Given the description of an element on the screen output the (x, y) to click on. 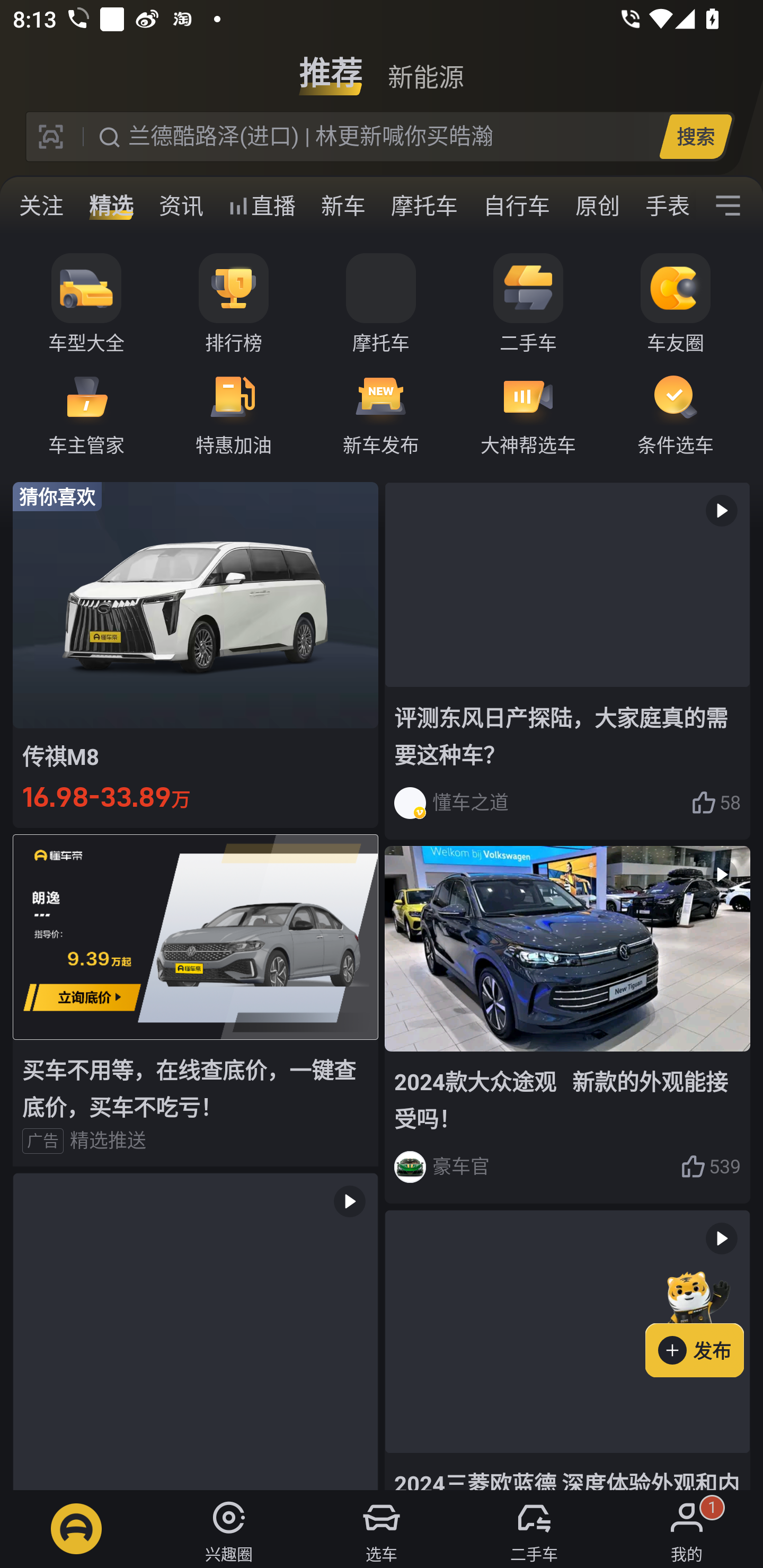
推荐 (330, 65)
新能源 (425, 65)
搜索 (695, 136)
关注 (41, 205)
精选 (111, 205)
资讯 (180, 205)
直播 (261, 205)
新车 (343, 205)
摩托车 (424, 205)
自行车 (516, 205)
原创 (597, 205)
手表 (663, 205)
 (727, 205)
车型大全 (86, 303)
排行榜 (233, 303)
摩托车 (380, 303)
二手车 (528, 303)
车友圈 (675, 303)
车主管家 (86, 412)
特惠加油 (233, 412)
新车发布 (380, 412)
大神帮选车 (528, 412)
条件选车 (675, 412)
猜你喜欢 传祺M8 16.98-33.89万 (195, 654)
 评测东风日产探陆，大家庭真的需要这种车？ 懂车之道 58 (567, 659)
58 (715, 802)
买车不用等，在线查底价，一键查底价，买车不吃亏！ 广告 精选推送 (195, 1000)
 2024款大众途观   新款的外观能接受吗！ 豪车官 539 (567, 1025)
539 (710, 1166)
 (195, 1330)
 2024三菱欧蓝德 深度体验外观和内饰 三菱真的要退出中国市场了？ (567, 1349)
发布 (704, 1320)
 兴趣圈 (228, 1528)
 选车 (381, 1528)
 二手车 (533, 1528)
 我的 (686, 1528)
